Given the description of an element on the screen output the (x, y) to click on. 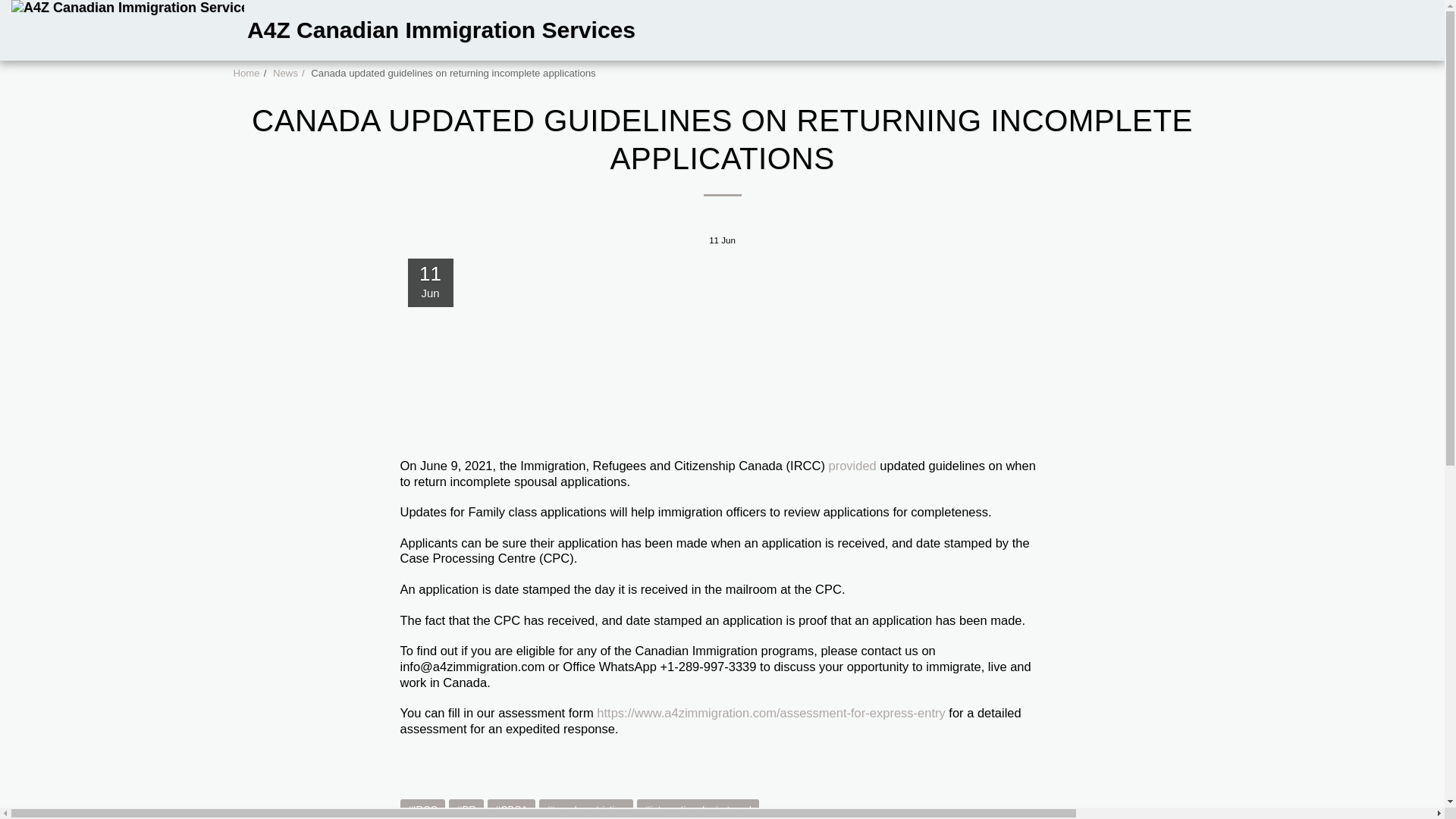
provided (852, 465)
A4Z Canadian Immigration Services (322, 30)
News (285, 72)
Home (246, 72)
